Given the description of an element on the screen output the (x, y) to click on. 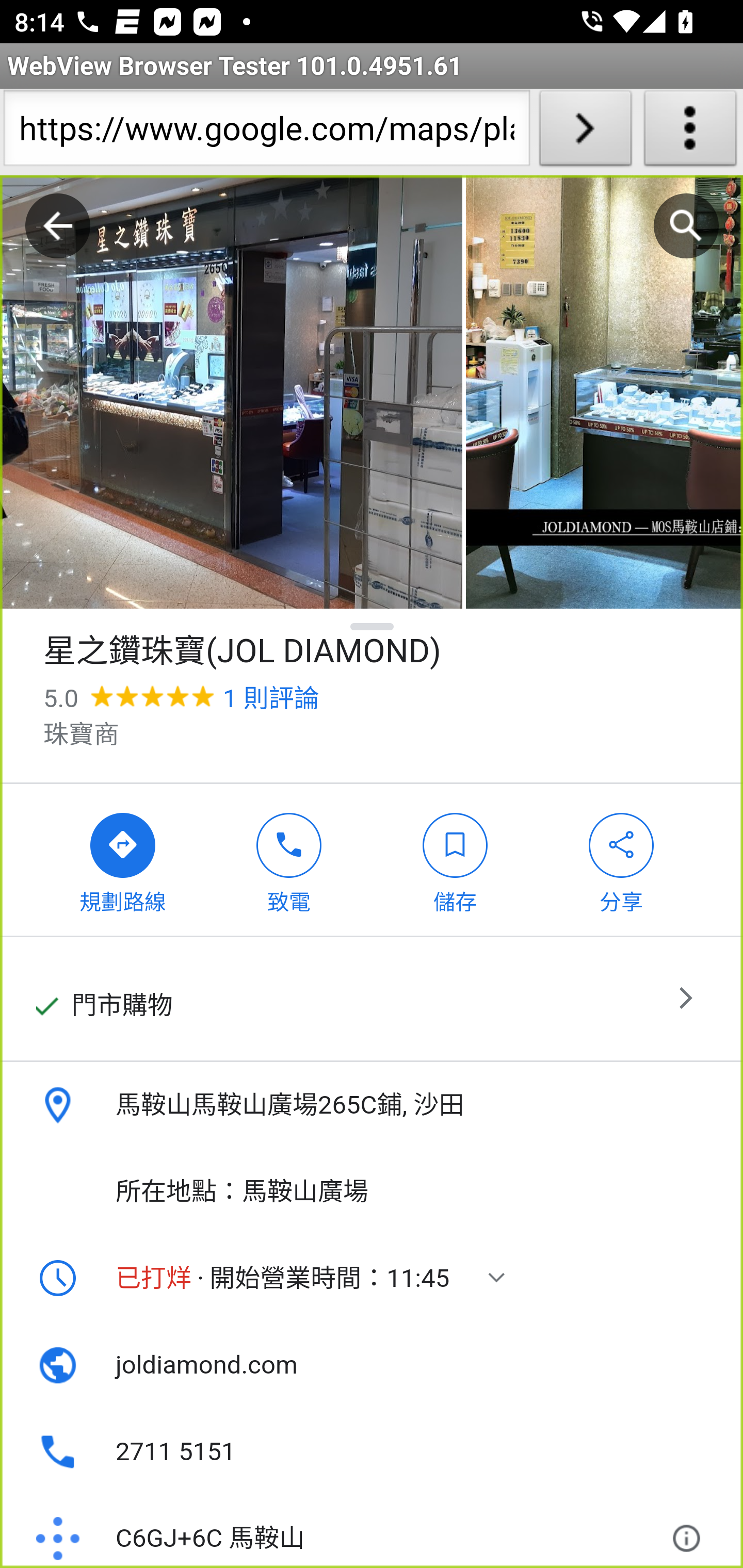
Load URL (585, 132)
About WebView (690, 132)
第 1 張相片 (共 6 張) (231, 392)
第 2 張相片 (共 6 張) (604, 392)
返回 (58, 226)
搜尋 (686, 226)
隱藏詳細資訊 (372, 626)
5.0 星級 1 則評論 (181, 698)
前往星之鑽珠寶(JOL DIAMOND)的路線 (123, 858)
致電「星之鑽珠寶(JOL DIAMOND)」  致電 (289, 858)
將「星之鑽珠寶(JOL DIAMOND)」儲存至清單中 (454, 858)
分享「星之鑽珠寶(JOL DIAMOND)」 (621, 858)
可到門市購物  (371, 999)
地址: 馬鞍山馬鞍山廣場265C鋪, 沙田  (371, 1104)
所在地點：馬鞍山廣場 (371, 1191)
營業時間 已打烊 ⋅ 開始營業時間：11:45 顯示本週營業時間 (371, 1278)
網站: joldiamond.com  joldiamond.com (371, 1364)
電話號碼: 2711 5151  2711 5151 (371, 1451)
Plus Code: C6GJ+6C 馬鞍山 (345, 1530)
進一步瞭解 Plus Codes (690, 1530)
